Given the description of an element on the screen output the (x, y) to click on. 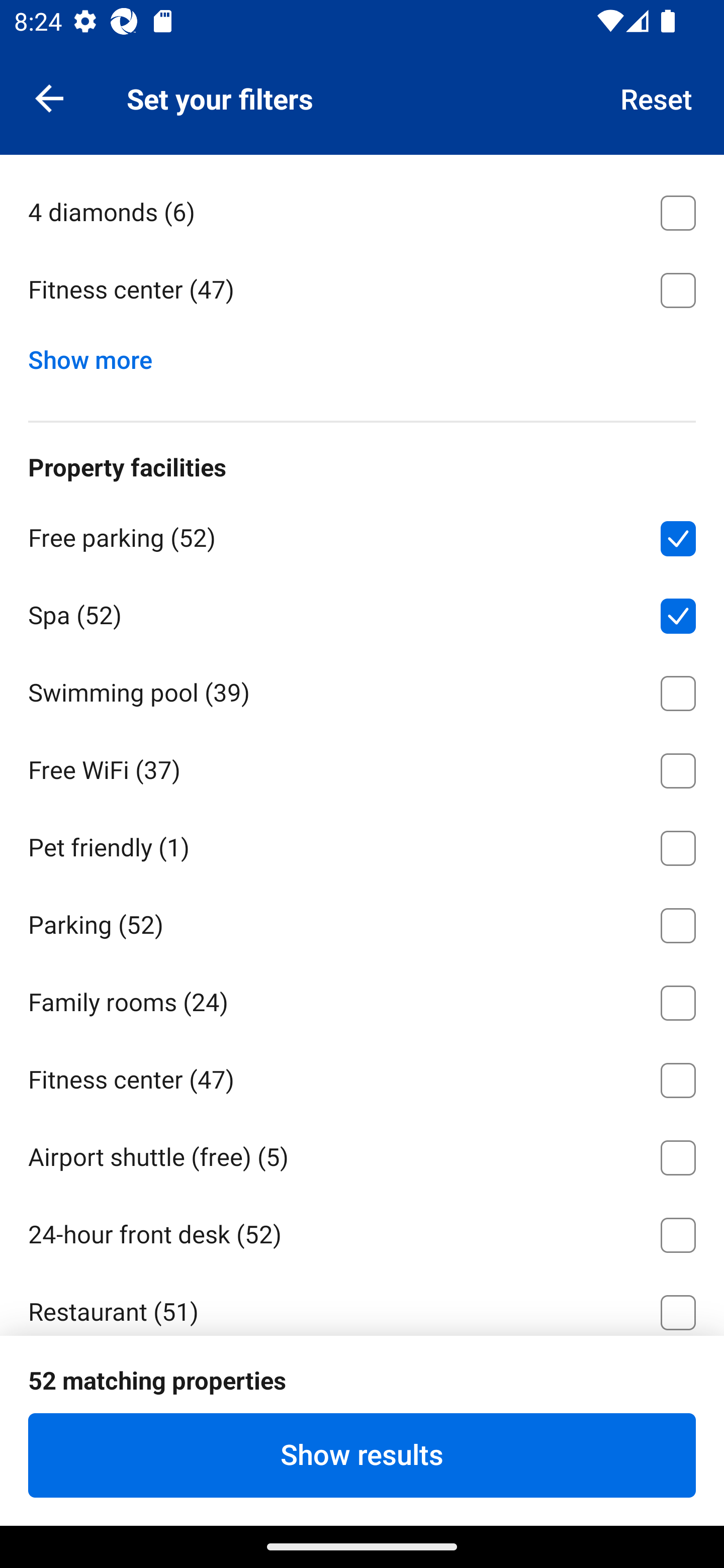
Navigate up (49, 97)
Reset (656, 97)
4 diamonds ⁦(6) (361, 208)
Fitness center ⁦(47) (361, 289)
Show more (97, 355)
Free parking ⁦(52) (361, 535)
Spa ⁦(52) (361, 611)
Swimming pool ⁦(39) (361, 689)
Free WiFi ⁦(37) (361, 767)
Pet friendly ⁦(1) (361, 843)
Parking ⁦(52) (361, 921)
Family rooms ⁦(24) (361, 999)
Fitness center ⁦(47) (361, 1077)
Airport shuttle (free) ⁦(5) (361, 1154)
24-hour front desk ⁦(52) (361, 1231)
Restaurant ⁦(51) (361, 1302)
Non-smoking rooms ⁦(51) (361, 1386)
Show results (361, 1454)
